Given the description of an element on the screen output the (x, y) to click on. 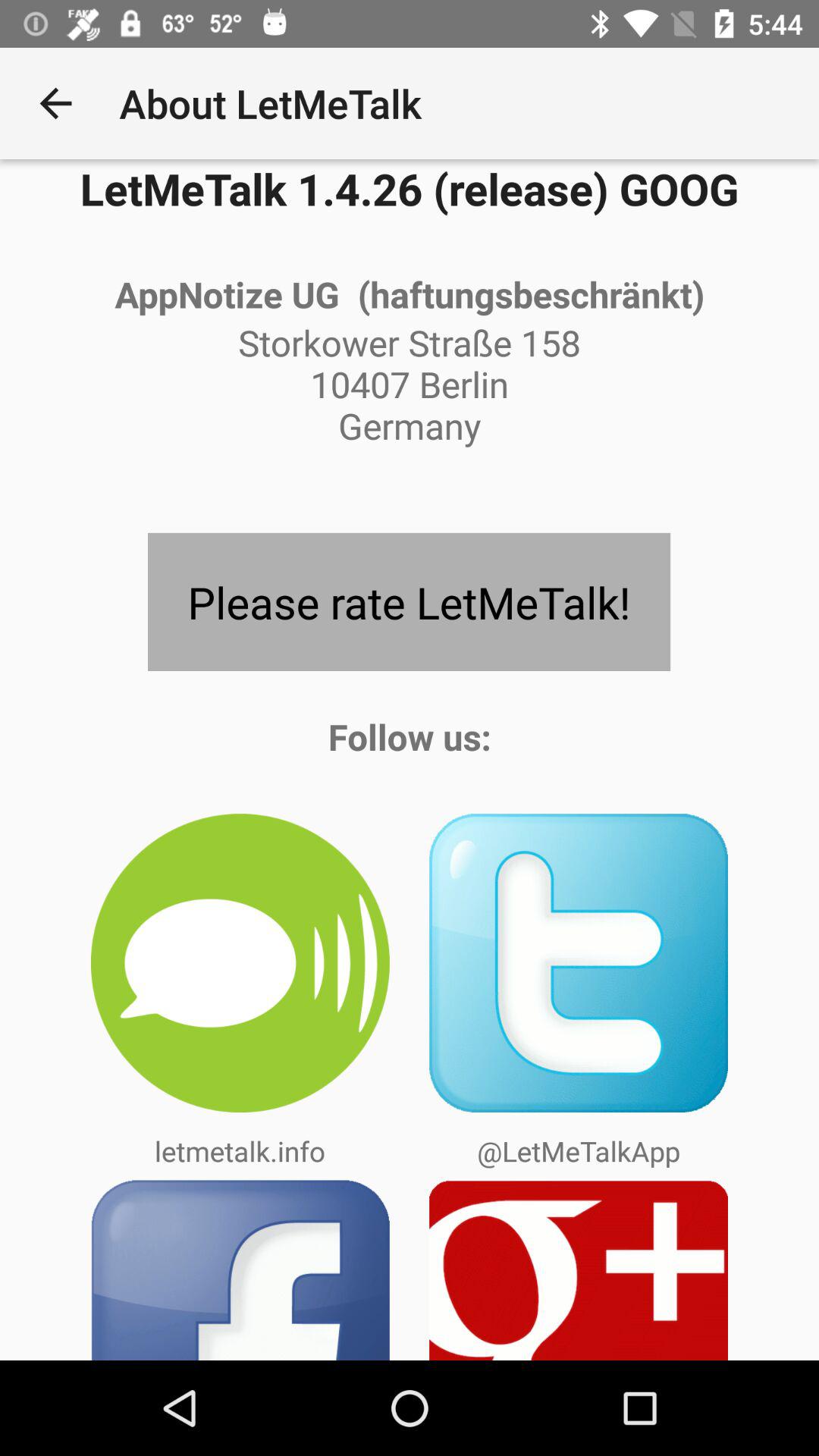
choose item above letmetalk 1 4 item (55, 103)
